Given the description of an element on the screen output the (x, y) to click on. 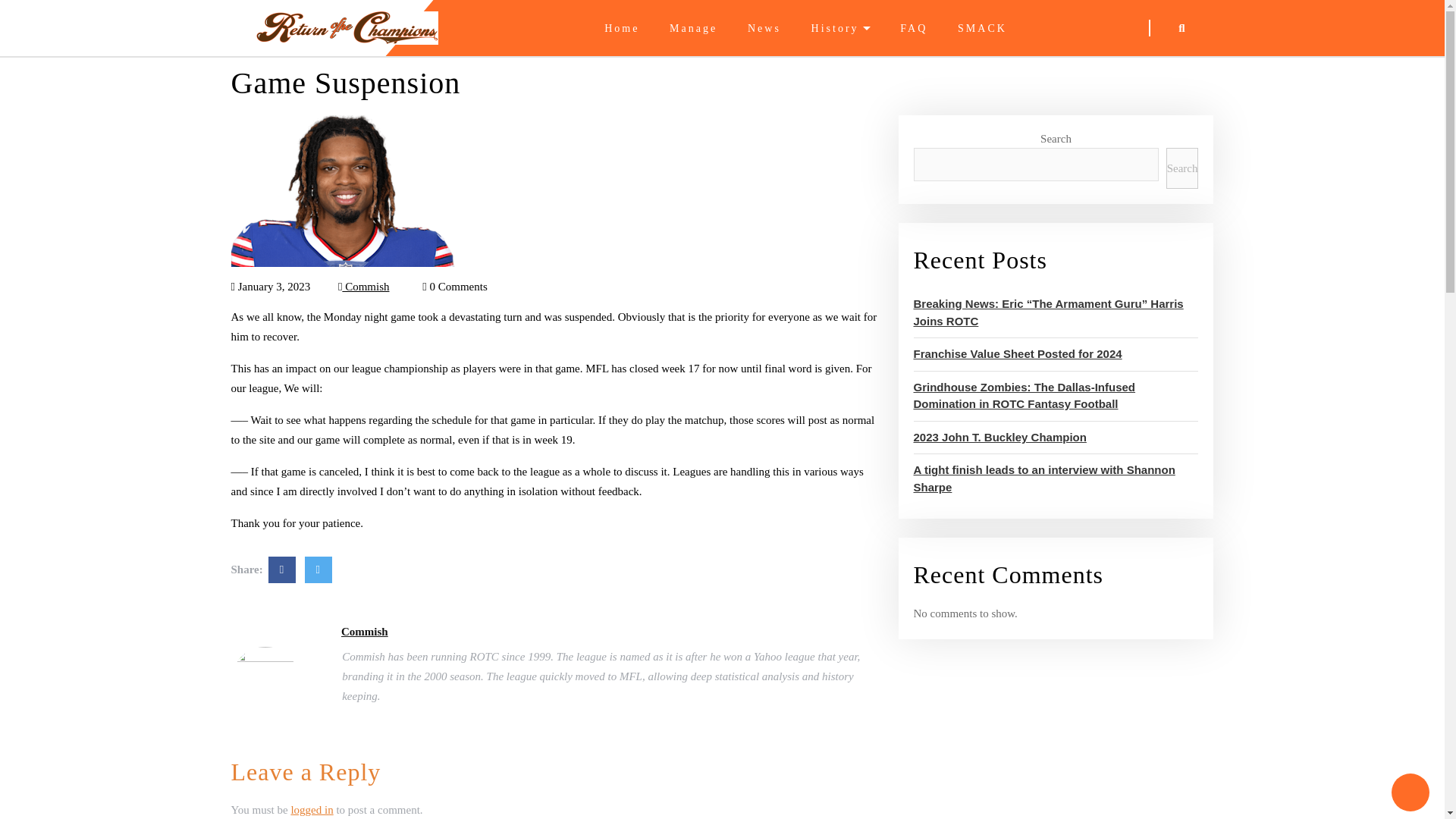
2023 John T. Buckley Champion (999, 436)
Home (621, 28)
Manage (693, 28)
Commish (364, 630)
SMACK (982, 28)
Franchise Value Sheet Posted for 2024 (1016, 353)
FAQ (913, 28)
Commish (363, 286)
logged in (311, 809)
